Given the description of an element on the screen output the (x, y) to click on. 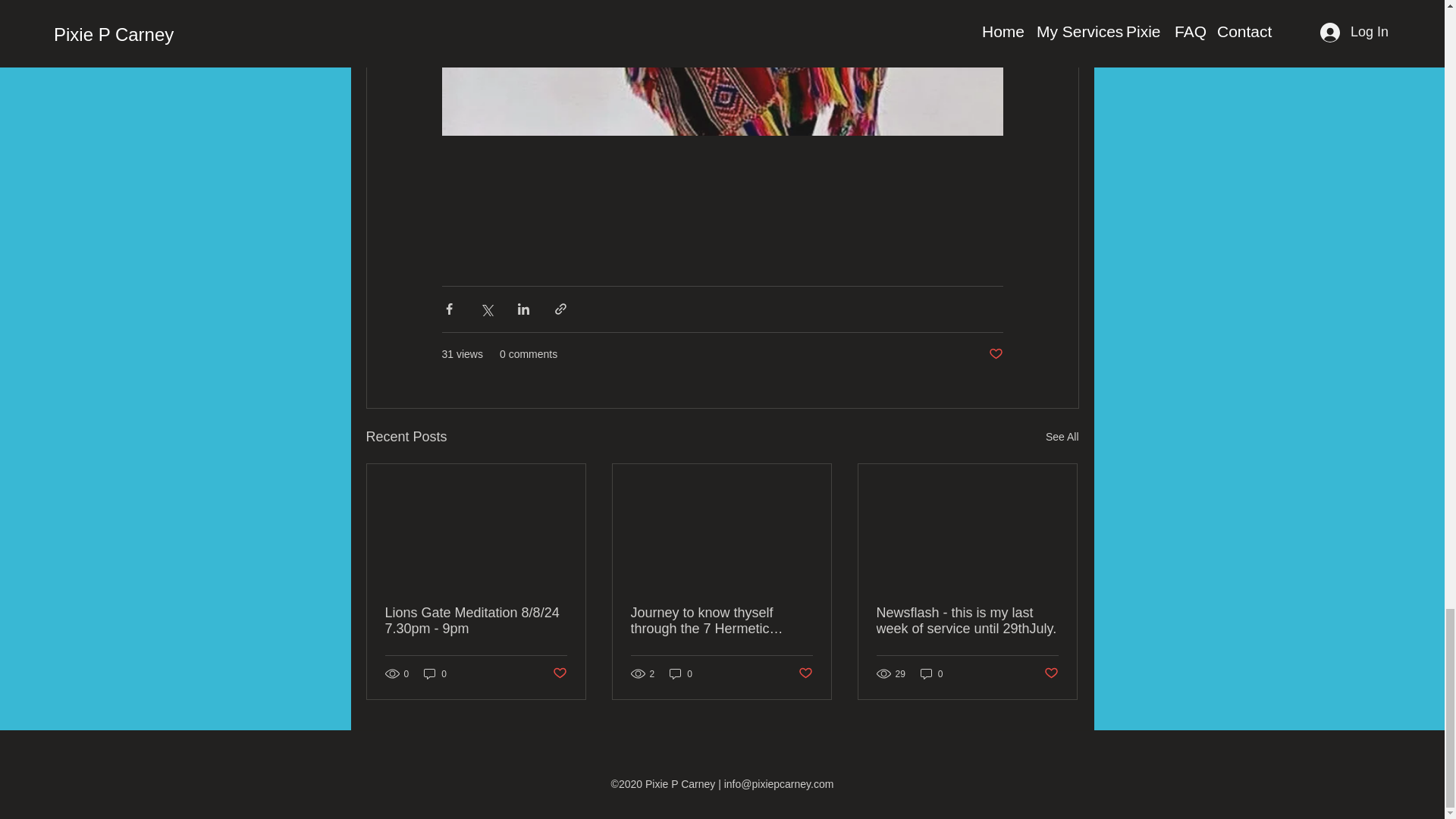
Post not marked as liked (995, 354)
Journey to know thyself through the 7 Hermetic Principles (721, 621)
Post not marked as liked (1050, 673)
See All (1061, 436)
Post not marked as liked (804, 673)
0 (931, 673)
0 (435, 673)
0 (681, 673)
Post not marked as liked (558, 673)
Newsflash - this is my last week of service until 29thJuly. (967, 621)
